Given the description of an element on the screen output the (x, y) to click on. 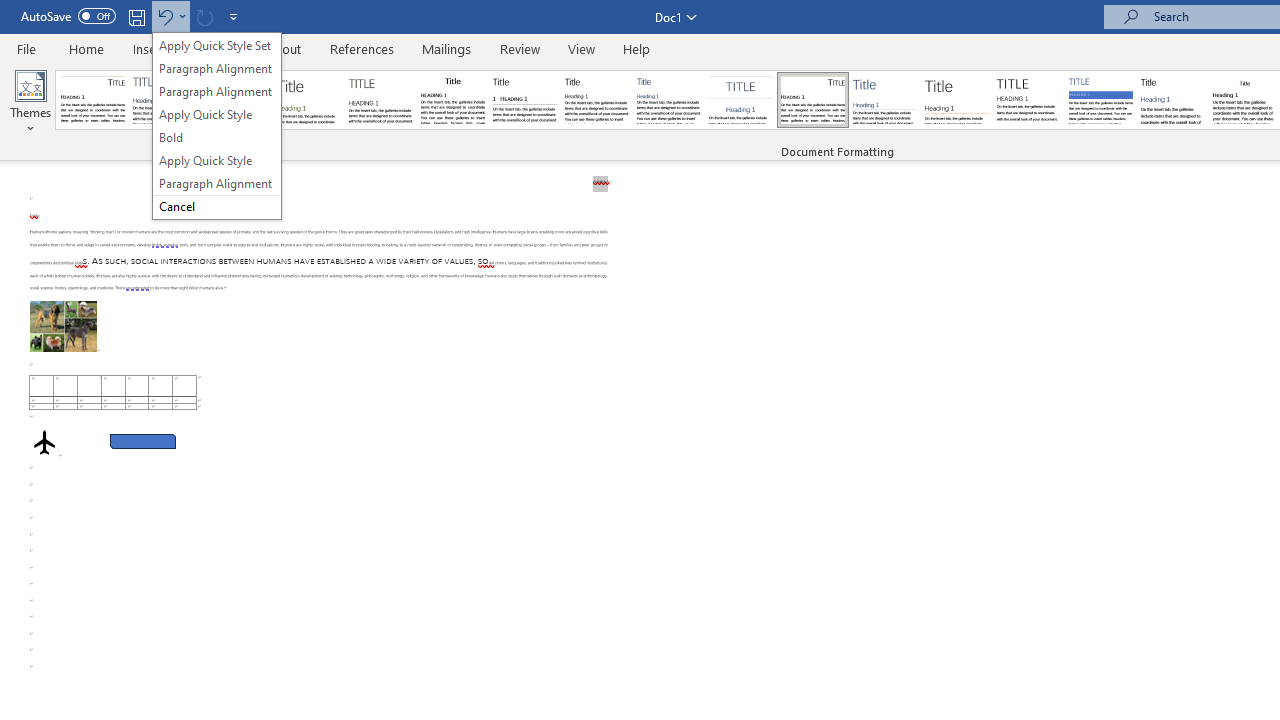
Black & White (Word 2013) (596, 100)
&Undo Apply Quick Style Set (216, 125)
Minimalist (1028, 100)
Black & White (Numbered) (524, 100)
Lines (Simple) (884, 100)
Black & White (Classic) (452, 100)
Shaded (1100, 100)
Centered (740, 100)
